Given the description of an element on the screen output the (x, y) to click on. 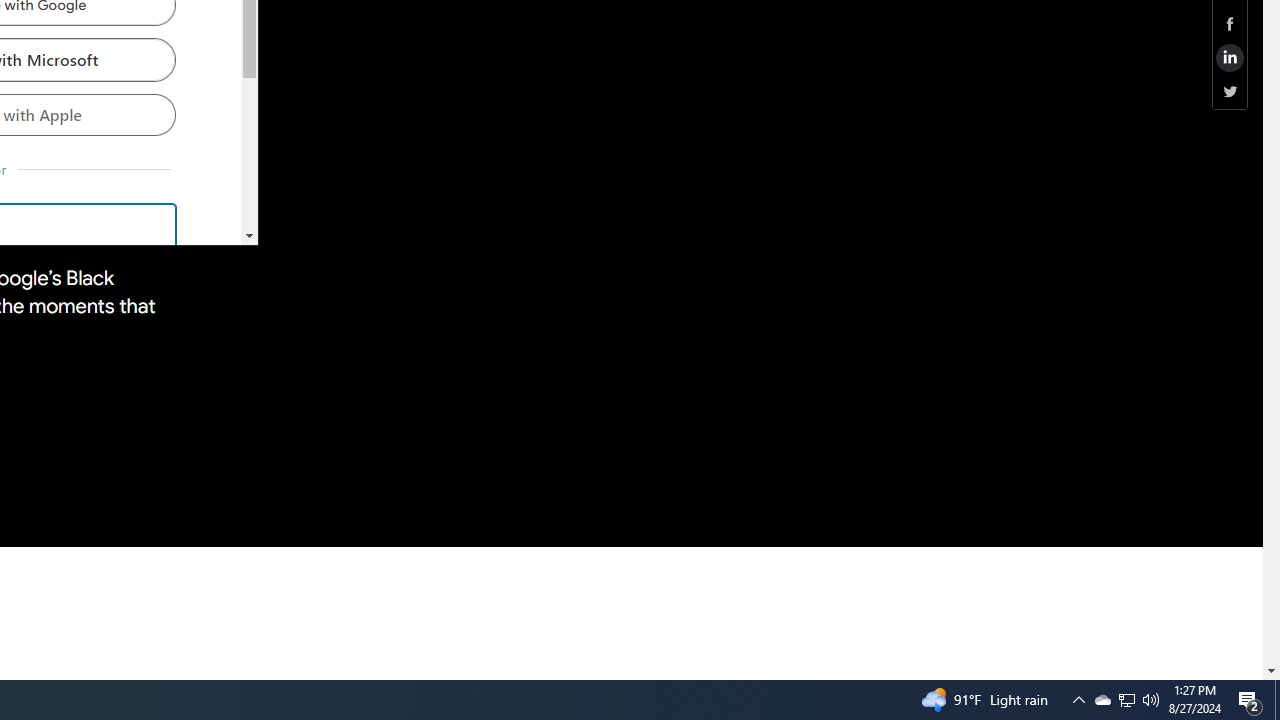
Notification Chevron (1078, 699)
User Promoted Notification Area (1126, 699)
Action Center, 2 new notifications (1250, 699)
Show desktop (1102, 699)
Q2790: 100% (1277, 699)
